Given the description of an element on the screen output the (x, y) to click on. 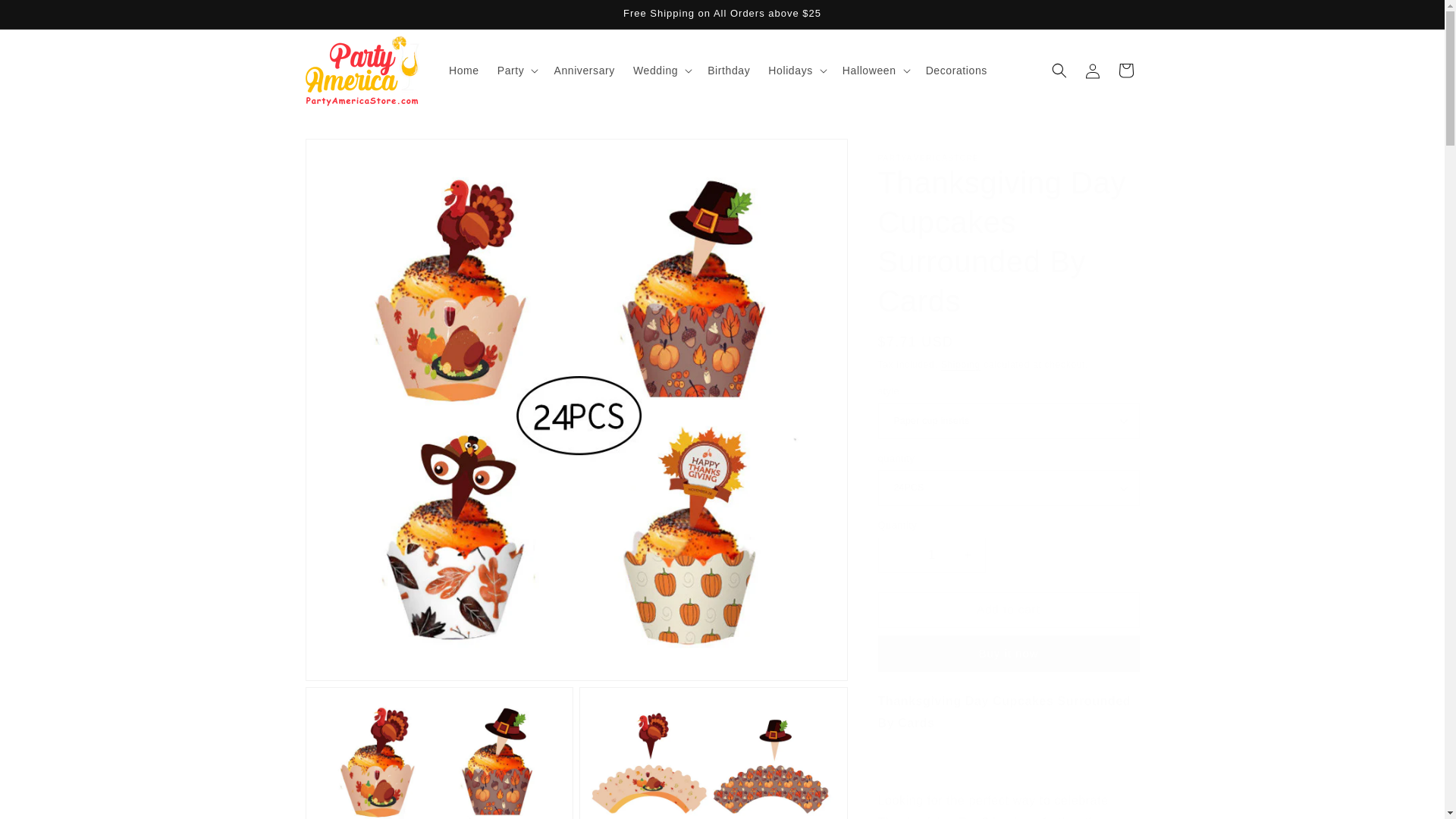
Open media 2 in modal (438, 753)
Skip to content (45, 17)
Anniversary (584, 70)
Home (463, 70)
1 (931, 555)
Open media 3 in modal (713, 753)
